Given the description of an element on the screen output the (x, y) to click on. 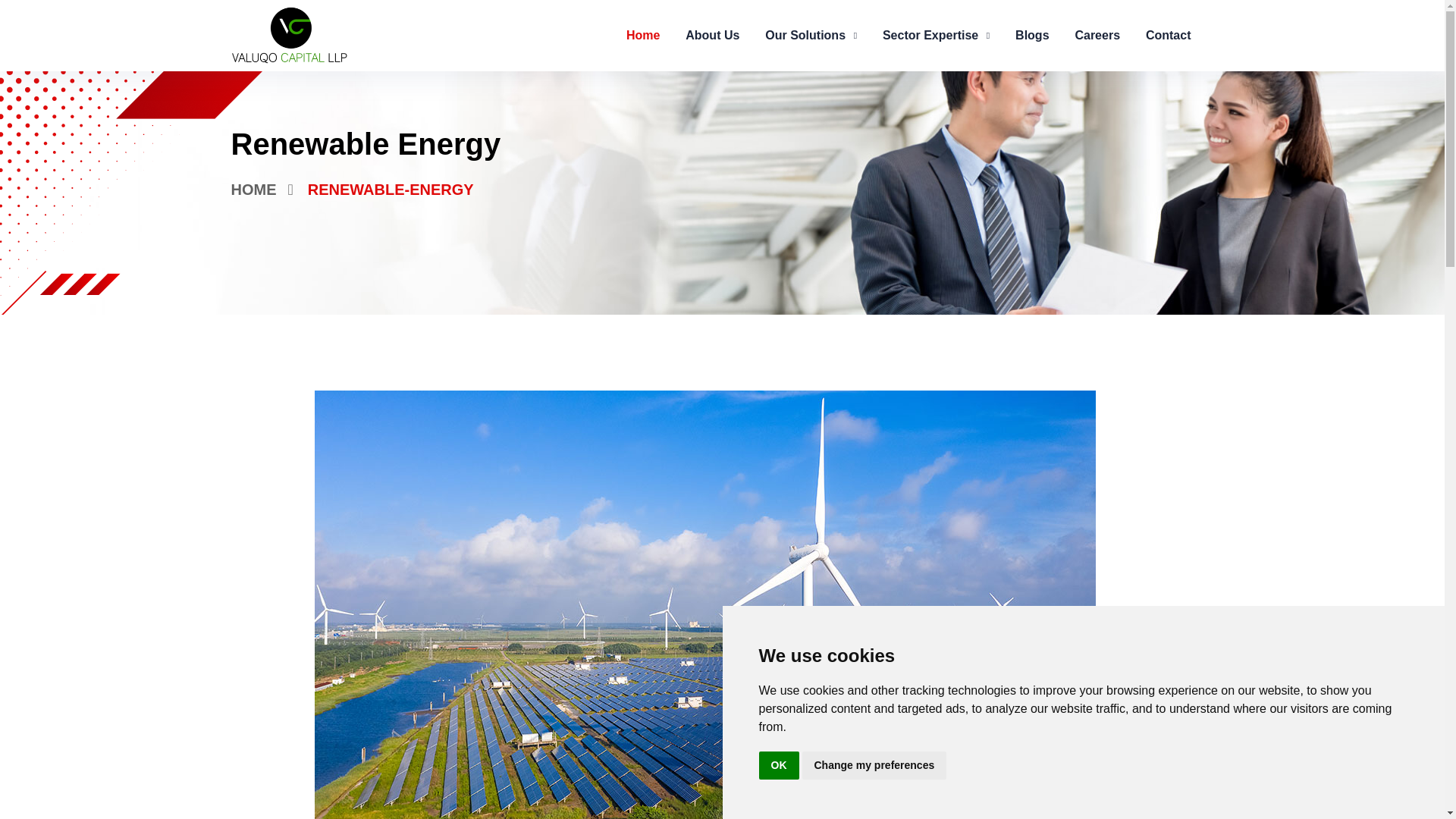
Sector Expertise (936, 35)
Change my preferences (874, 765)
Our Solutions (811, 35)
OK (777, 765)
